Given the description of an element on the screen output the (x, y) to click on. 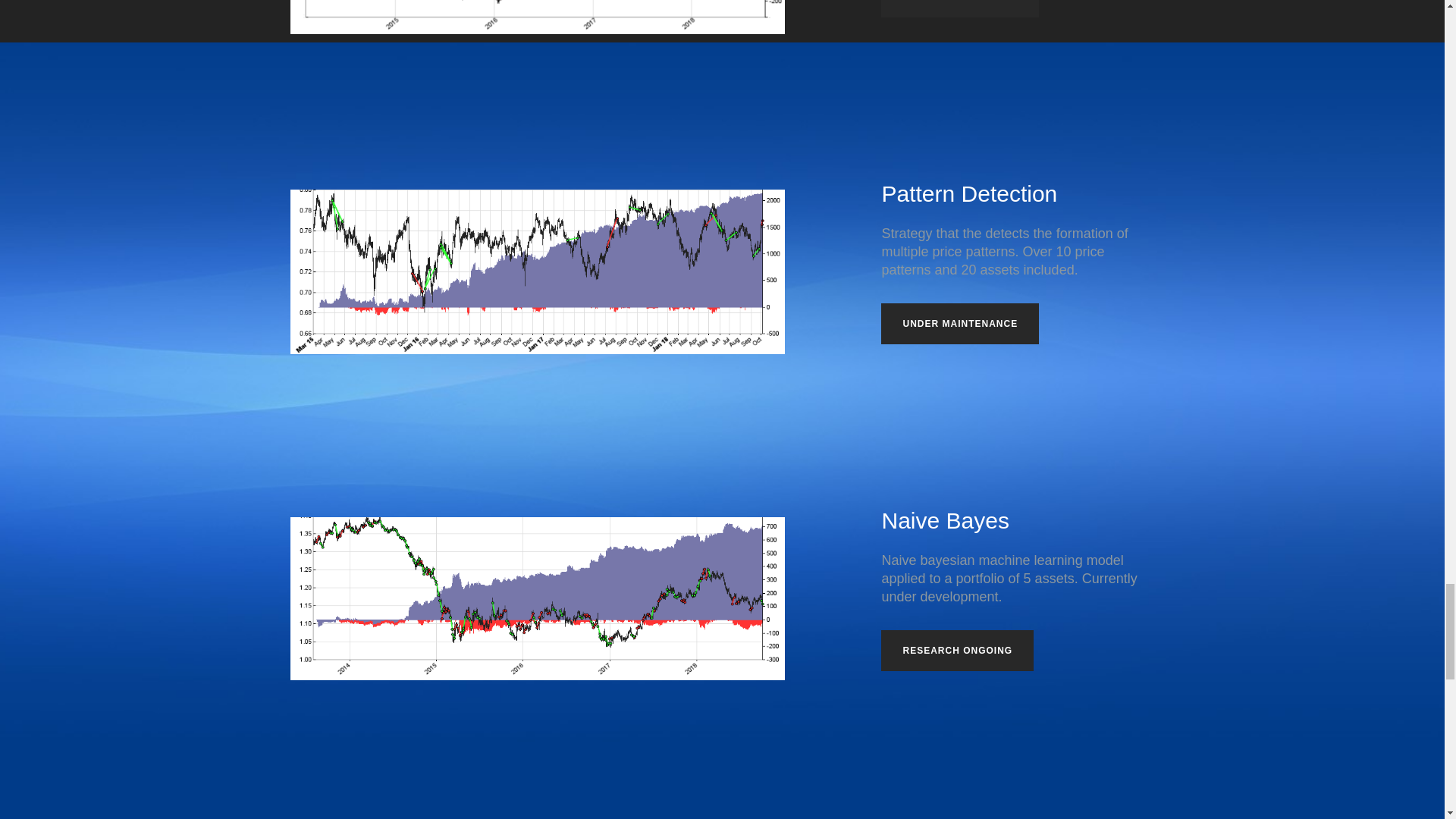
UNDER MAINTENANCE (959, 323)
RESEARCH ONGOING (956, 649)
UNDER MAINTENANCE (959, 8)
